Given the description of an element on the screen output the (x, y) to click on. 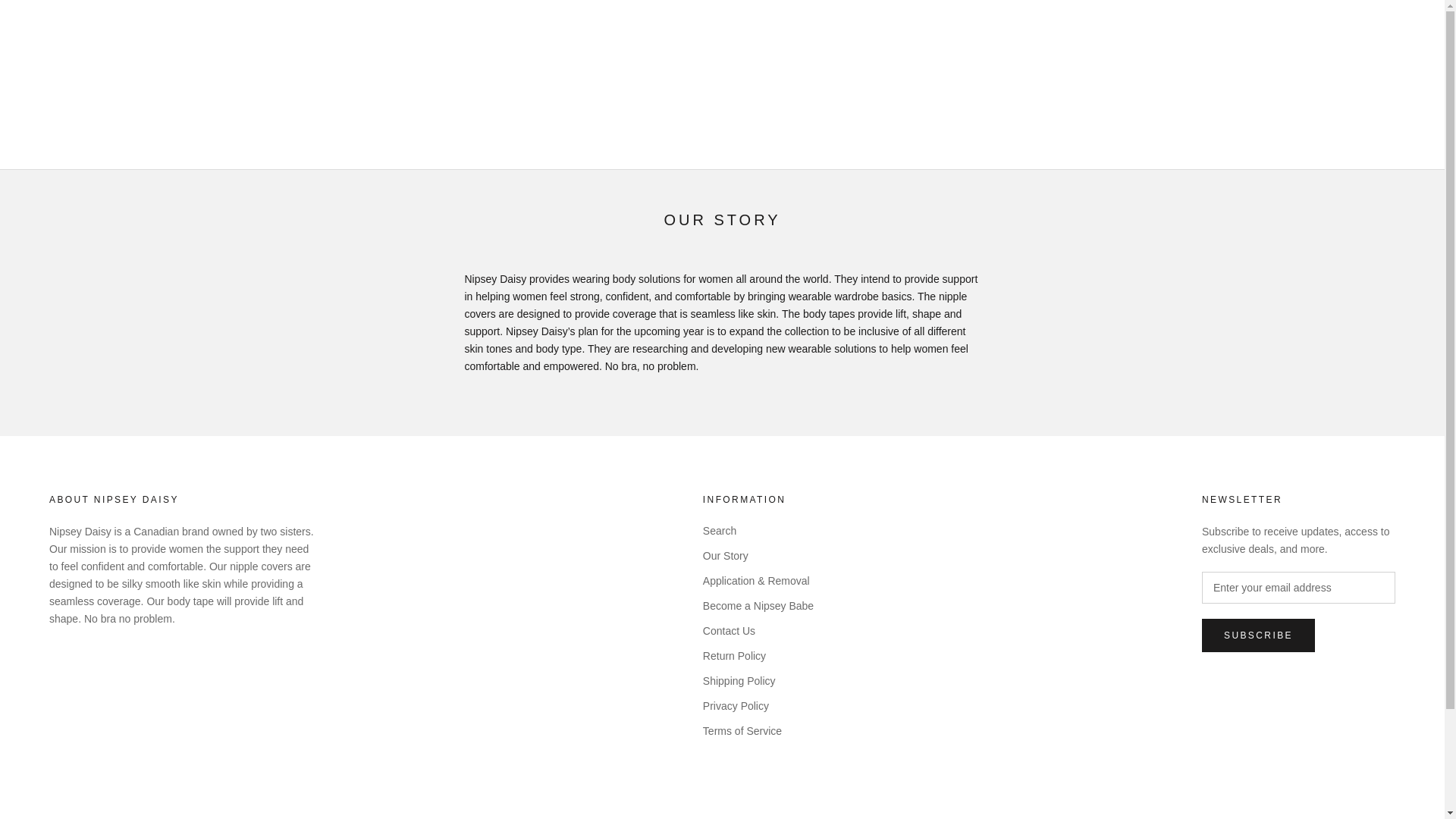
Search (758, 530)
Shipping Policy (758, 681)
Privacy Policy (758, 706)
Become a Nipsey Babe (758, 606)
Return Policy (758, 656)
Terms of Service (758, 731)
SUBSCRIBE (1258, 635)
Contact Us (758, 631)
Our Story (758, 555)
